Given the description of an element on the screen output the (x, y) to click on. 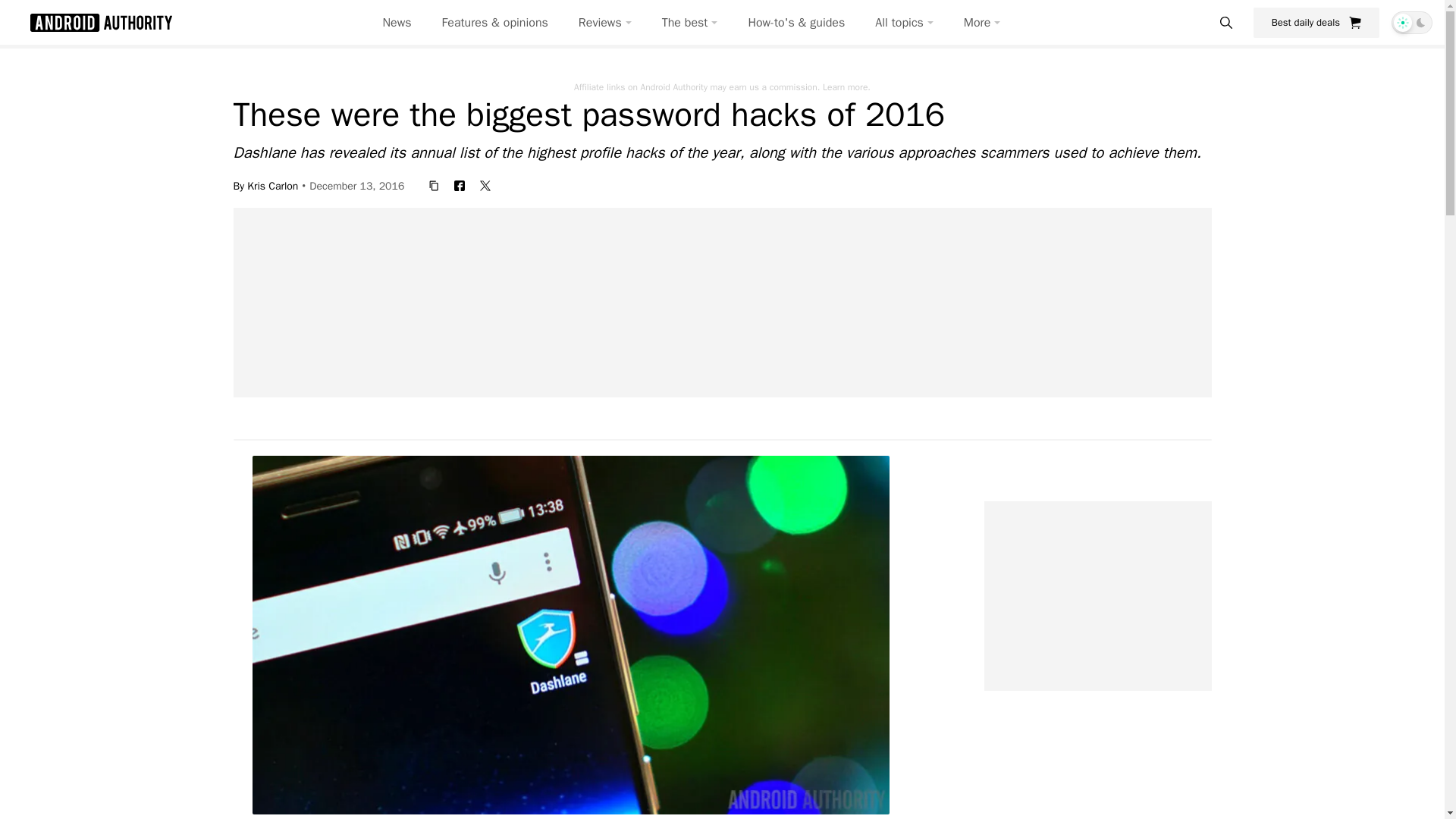
Reviews (604, 22)
3rd party ad content (722, 302)
Best daily deals (1315, 22)
The best (689, 22)
All topics (904, 22)
3rd party ad content (1097, 596)
facebook (458, 185)
twitter (484, 185)
Kris Carlon (272, 185)
3rd party ad content (731, 785)
Learn more. (846, 86)
